Given the description of an element on the screen output the (x, y) to click on. 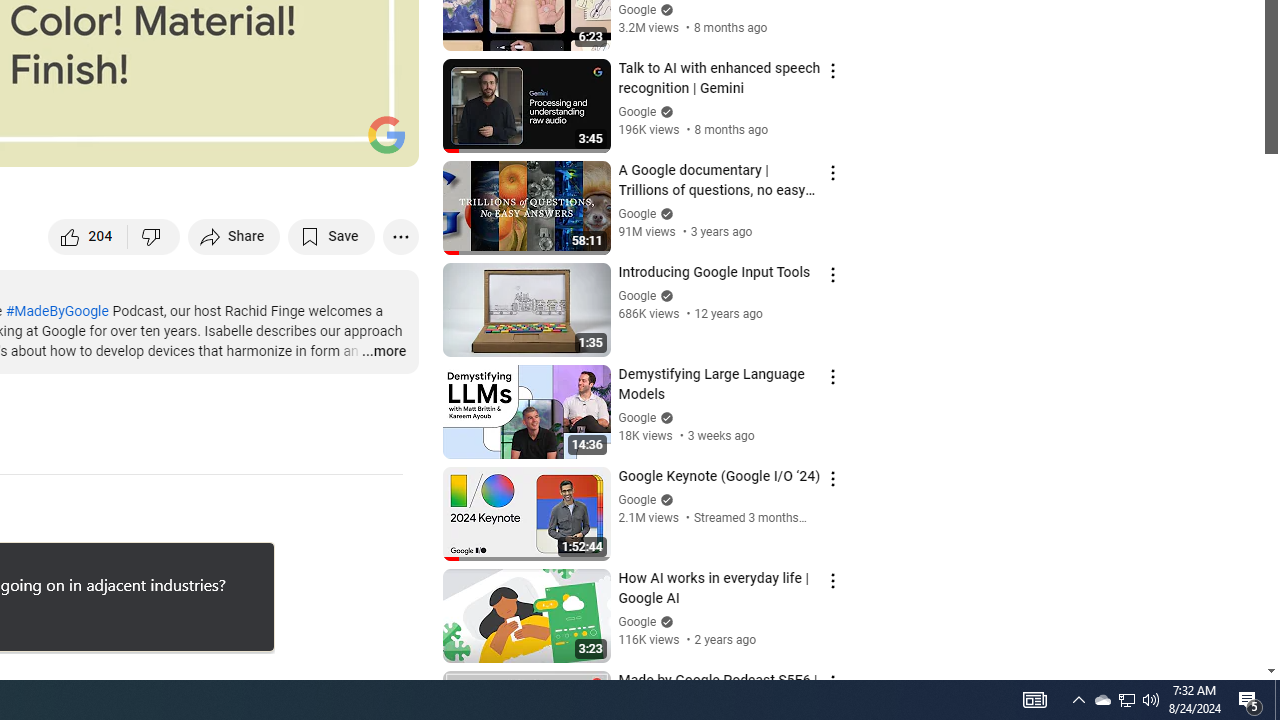
Verified (664, 621)
...more (382, 352)
Channel watermark (386, 134)
Theater mode (t) (333, 142)
Miniplayer (i) (286, 142)
